Given the description of an element on the screen output the (x, y) to click on. 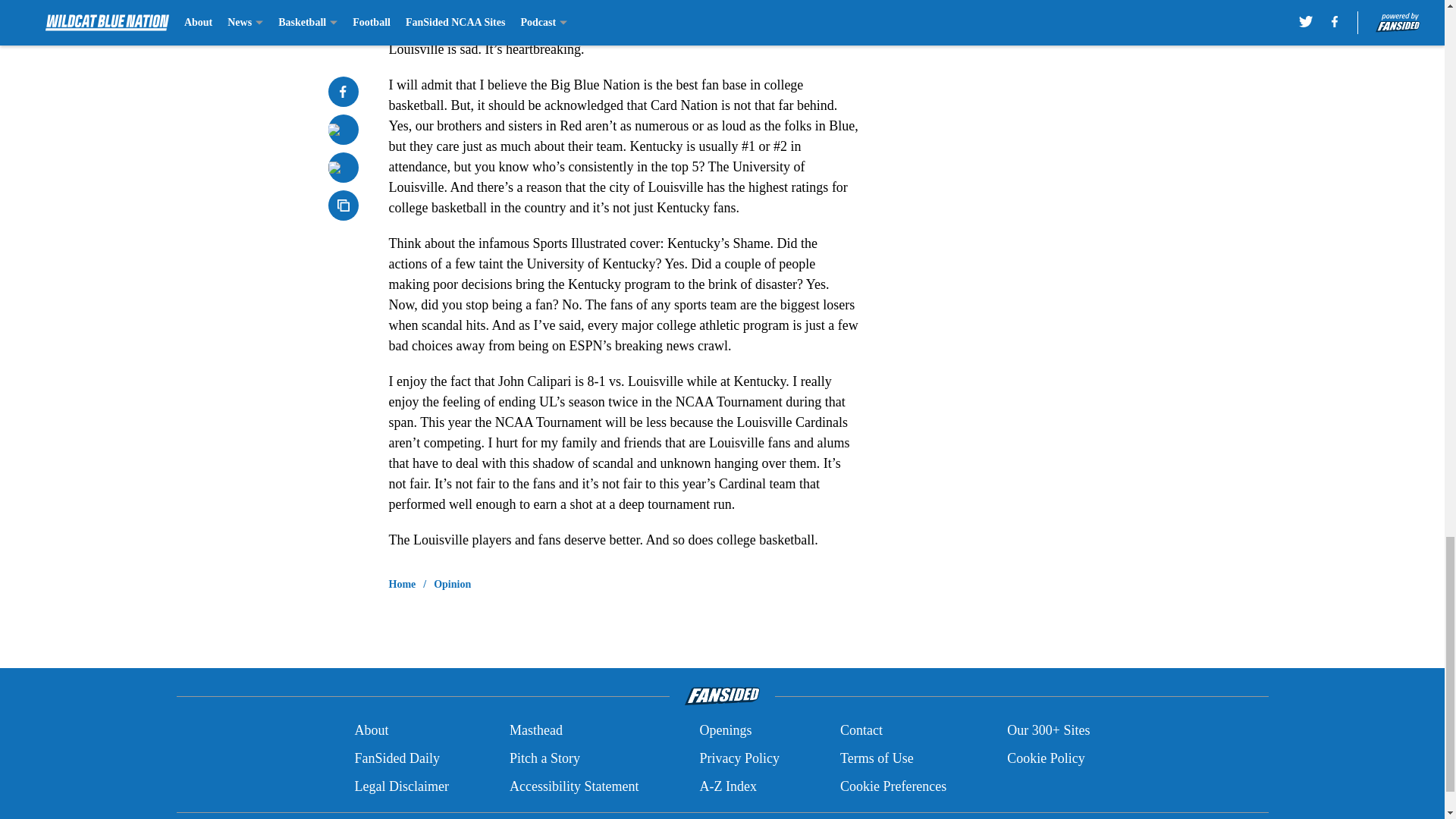
Contact (861, 730)
Privacy Policy (738, 758)
Cookie Preferences (893, 786)
Opinion (451, 584)
Pitch a Story (544, 758)
Legal Disclaimer (400, 786)
Terms of Use (877, 758)
FanSided Daily (396, 758)
Accessibility Statement (574, 786)
About (370, 730)
Masthead (535, 730)
Home (401, 584)
Openings (724, 730)
Cookie Policy (1045, 758)
A-Z Index (726, 786)
